Given the description of an element on the screen output the (x, y) to click on. 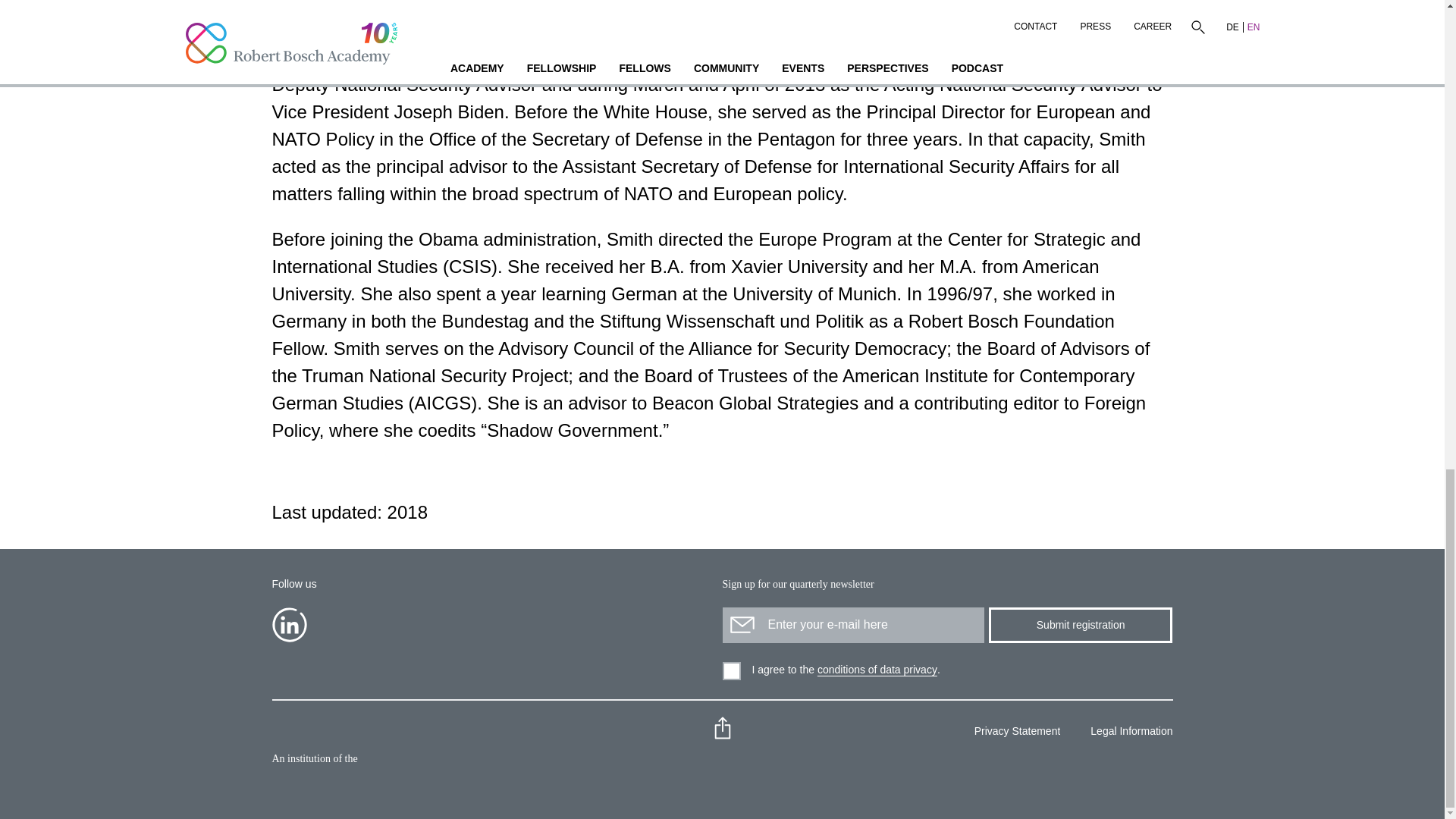
Enter your e-mail here (853, 624)
Submit registration (1080, 624)
conditions of data privacy (876, 669)
Legal Information (1125, 733)
Privacy Statement (1011, 733)
Linkedin (287, 624)
